Given the description of an element on the screen output the (x, y) to click on. 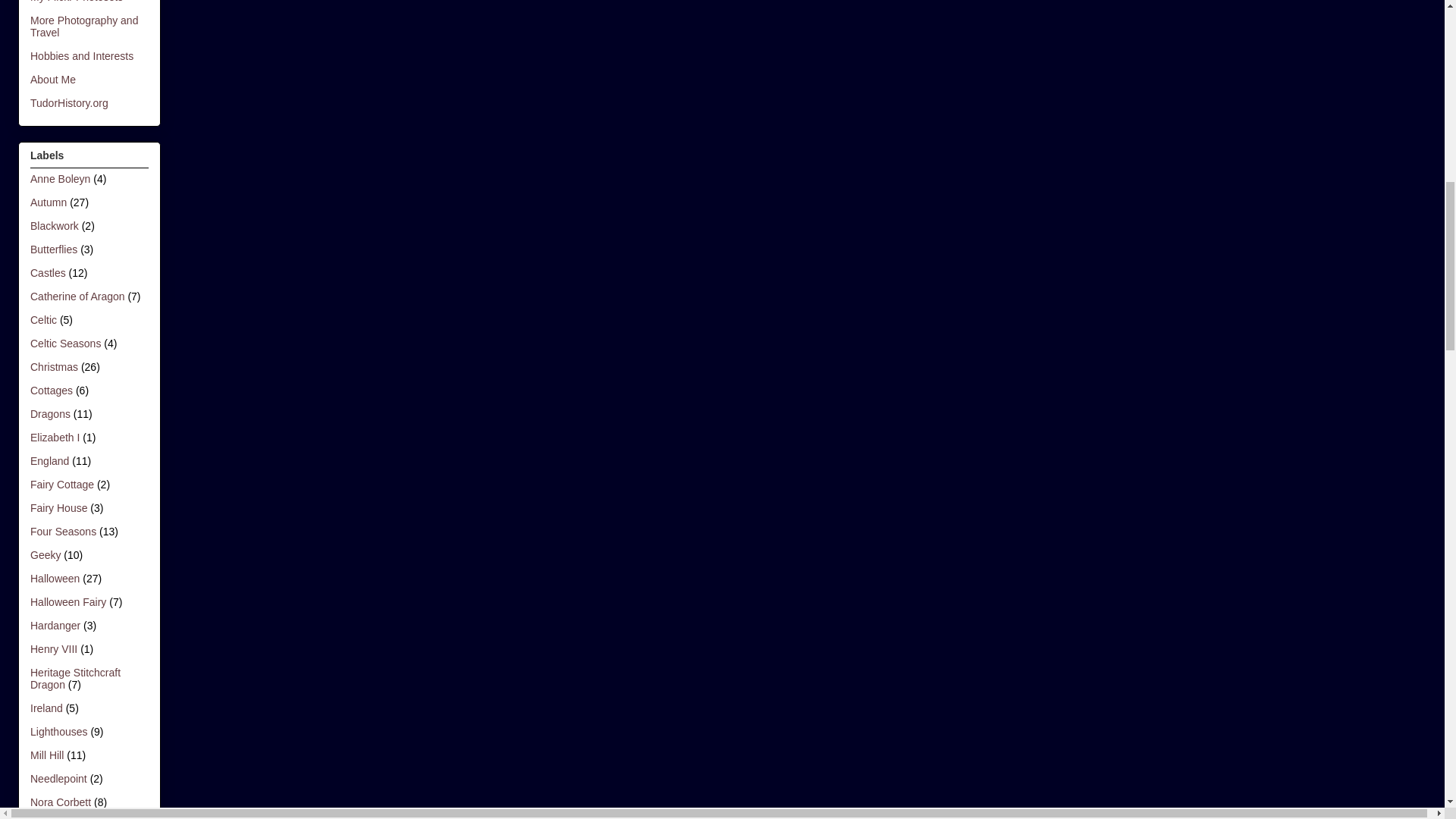
Fairy House (58, 508)
Celtic (43, 319)
Hardanger (55, 625)
Four Seasons (63, 531)
Hobbies and Interests (81, 55)
Castles (47, 272)
Cottages (51, 390)
Geeky (45, 554)
Halloween Fairy (68, 602)
Christmas (54, 367)
Butterflies (53, 249)
England (49, 460)
Autumn (48, 202)
Celtic Seasons (65, 343)
Anne Boleyn (60, 178)
